Given the description of an element on the screen output the (x, y) to click on. 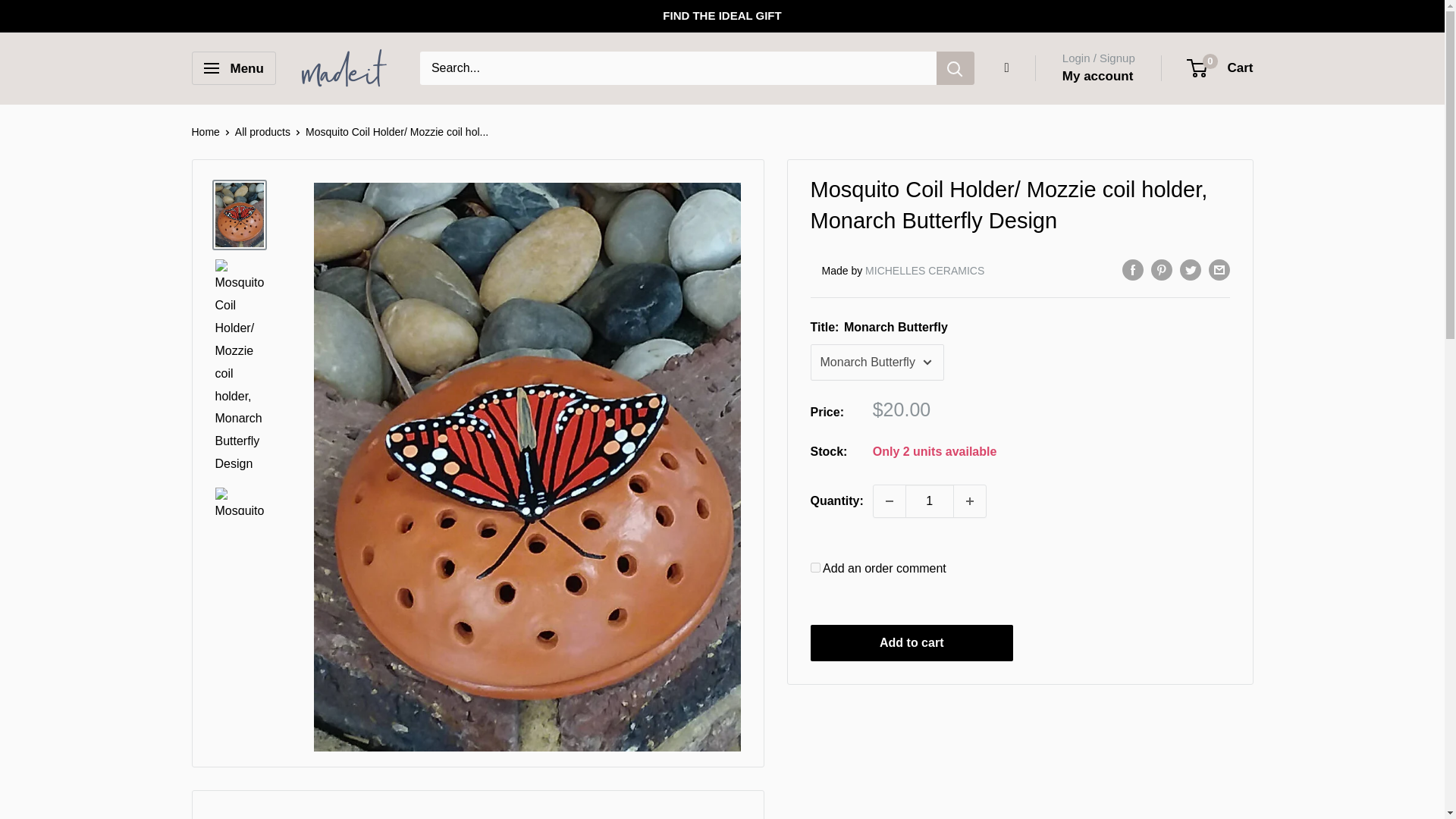
Increase quantity by 1 (969, 500)
FIND THE IDEAL GIFT (721, 15)
1 (929, 500)
Decrease quantity by 1 (889, 500)
on (814, 567)
